Given the description of an element on the screen output the (x, y) to click on. 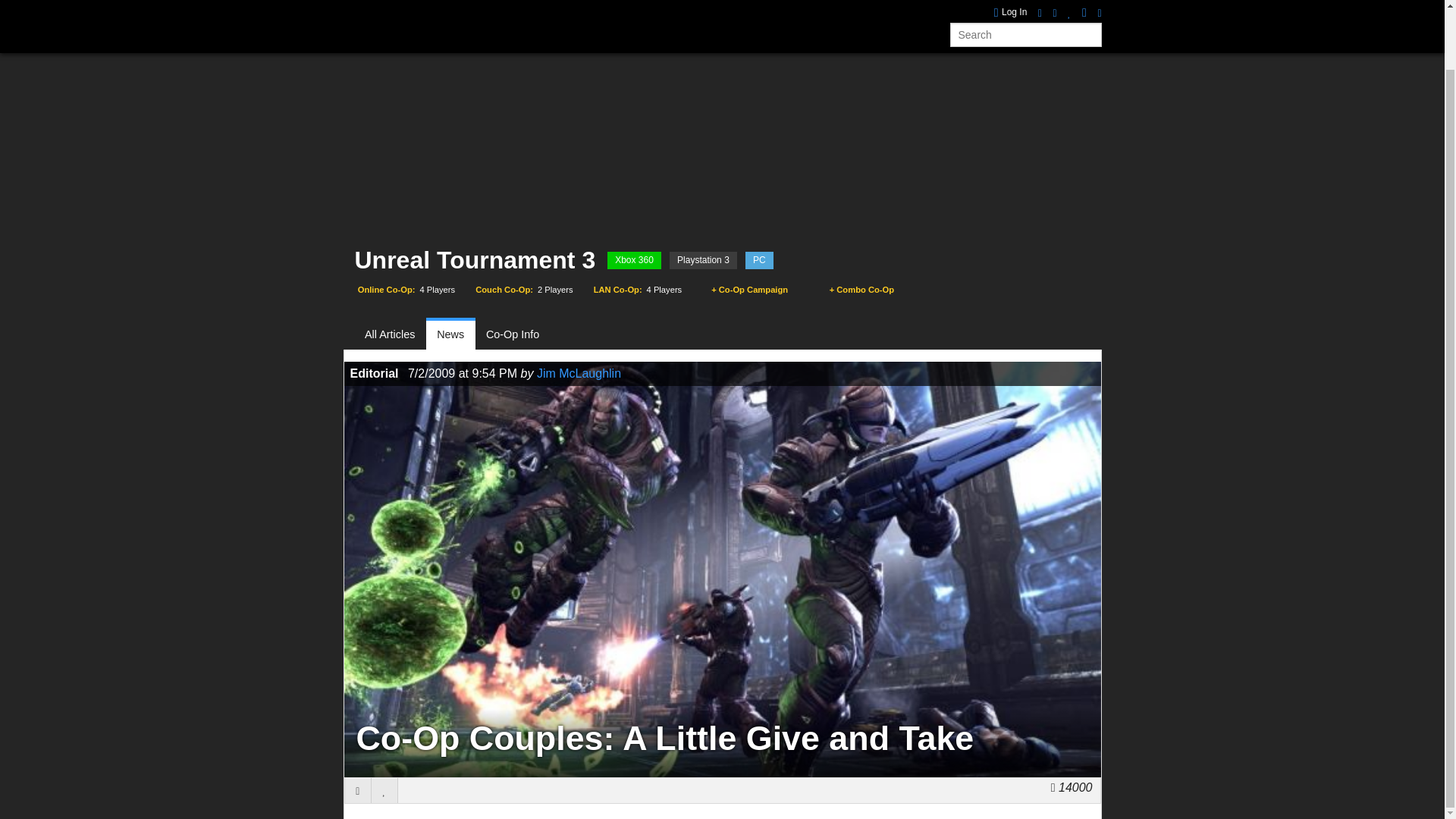
Playstation 3 (702, 260)
News (471, 6)
Co-Op Info (513, 334)
Reviews (526, 6)
Jim McLaughlin (579, 373)
Weekly Video Streams and VODs from Co-Optimus (659, 6)
EDF 6 Co-Op Review (1037, 4)
Xbox 360 (634, 260)
Editorials (743, 6)
PC (759, 260)
